Given the description of an element on the screen output the (x, y) to click on. 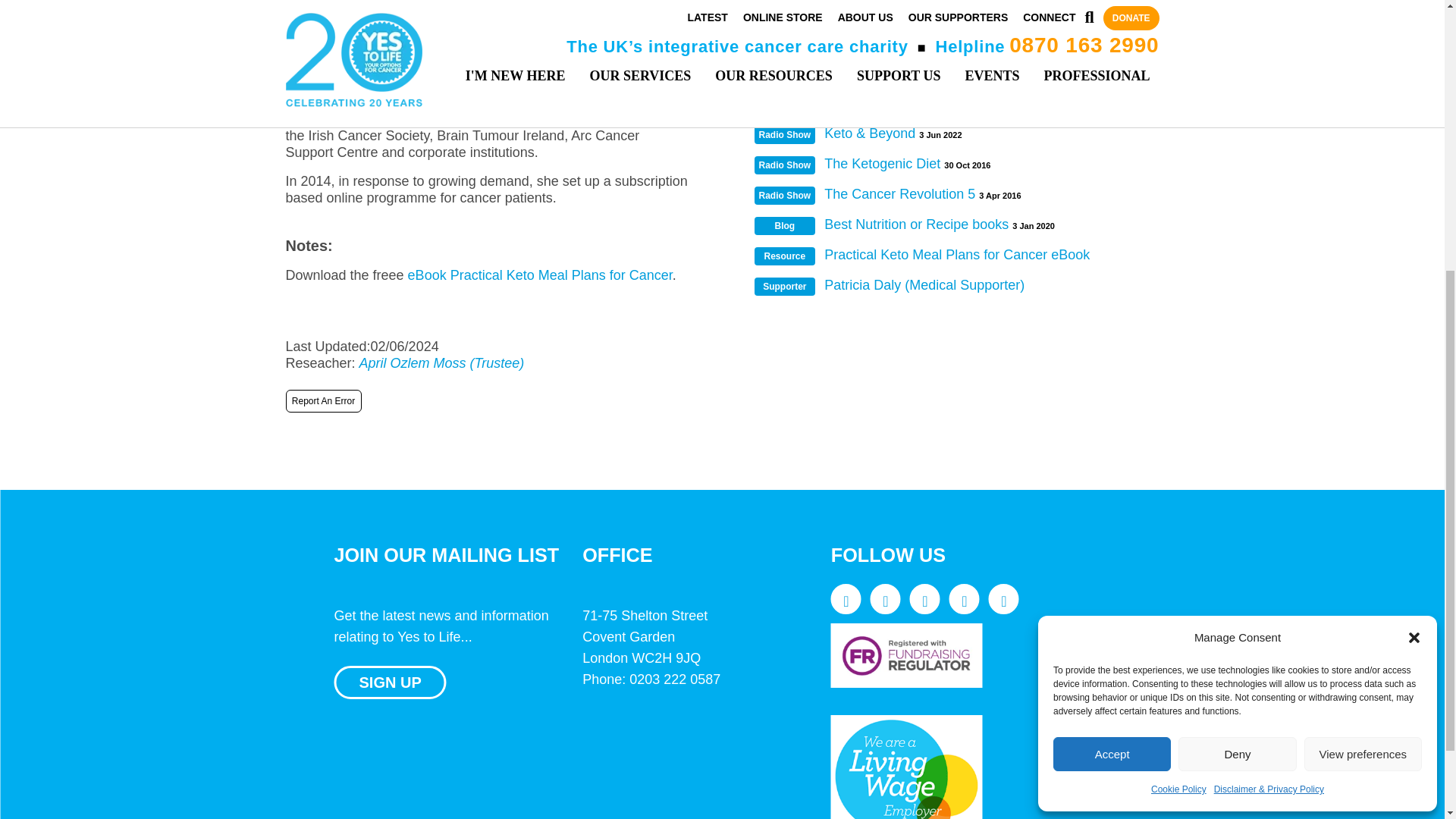
Accept (1111, 311)
Cookie Policy (1179, 346)
View preferences (1363, 311)
Deny (1236, 311)
